Given the description of an element on the screen output the (x, y) to click on. 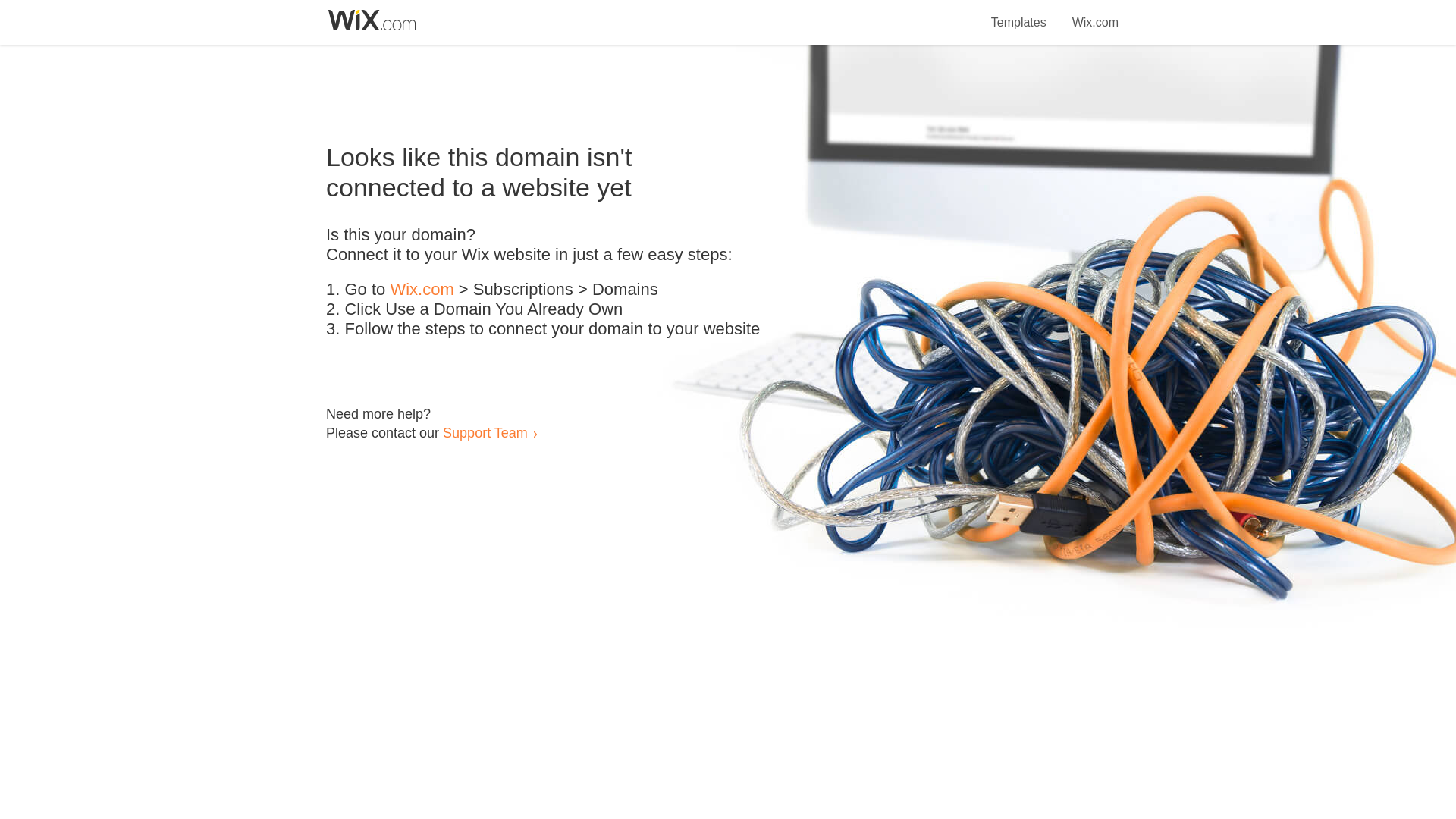
Wix.com (1095, 14)
Support Team (484, 432)
Templates (1018, 14)
Wix.com (421, 289)
